Given the description of an element on the screen output the (x, y) to click on. 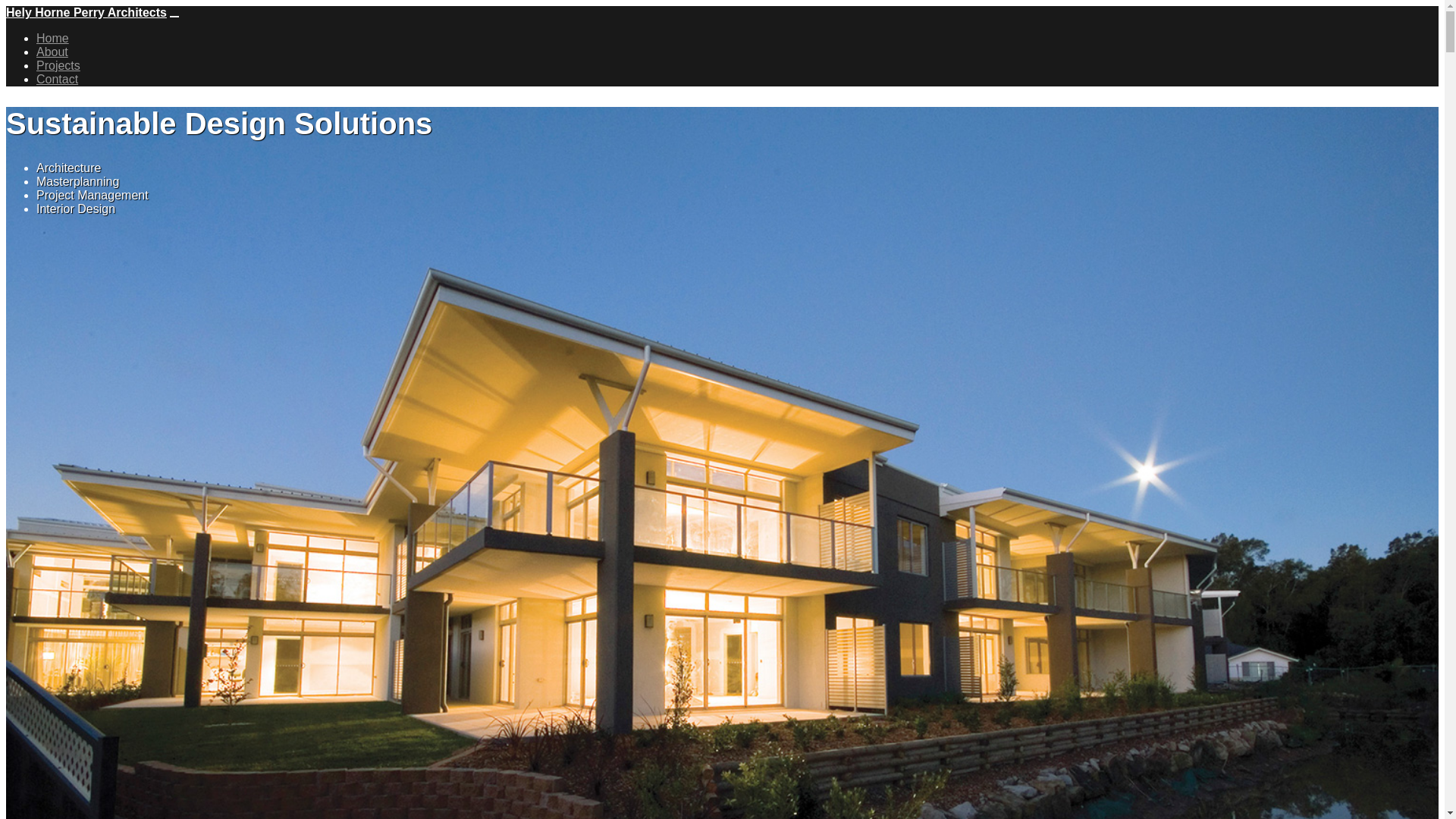
About Element type: text (52, 51)
Contact Element type: text (57, 78)
Projects Element type: text (58, 65)
Hely Horne Perry Architects Element type: text (86, 12)
Home Element type: text (52, 37)
